Given the description of an element on the screen output the (x, y) to click on. 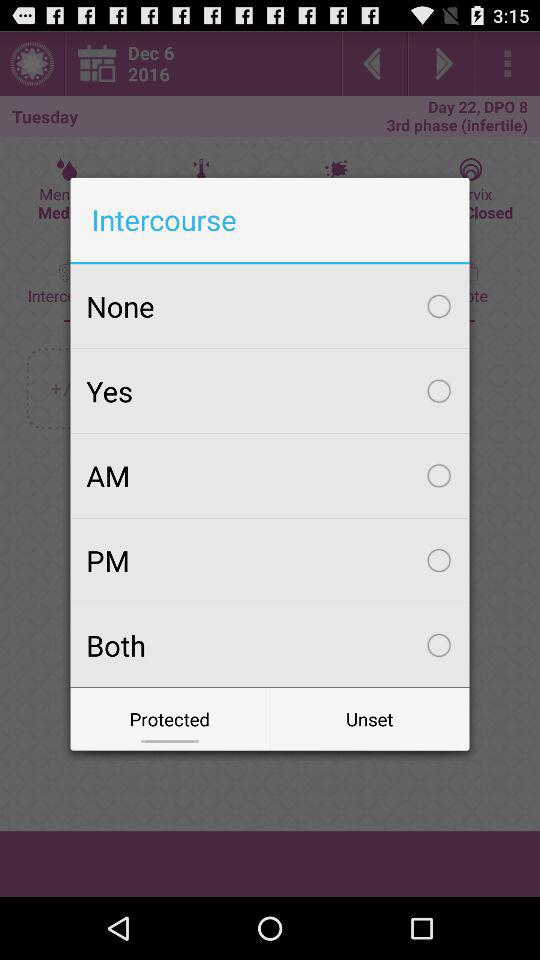
turn off icon below the yes checkbox (269, 475)
